Given the description of an element on the screen output the (x, y) to click on. 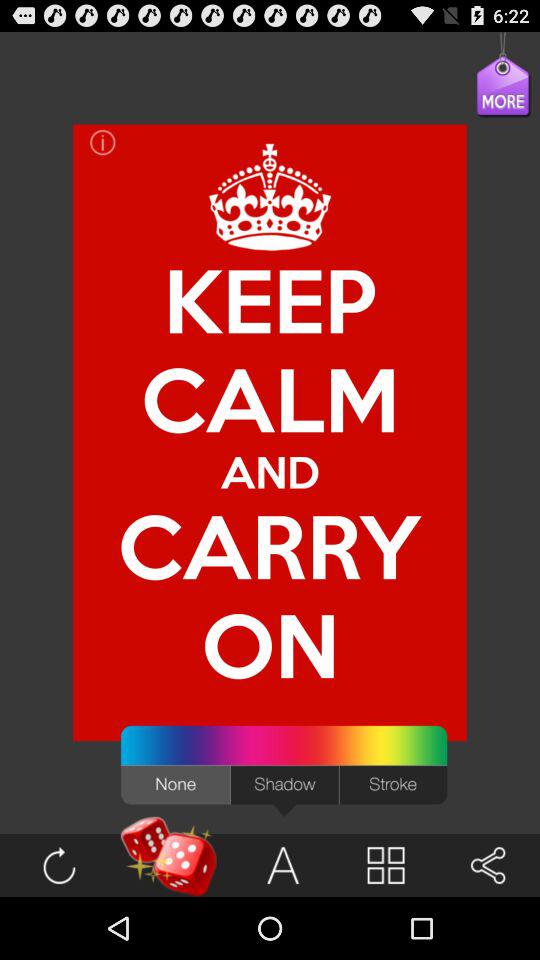
launch calm item (269, 398)
